Given the description of an element on the screen output the (x, y) to click on. 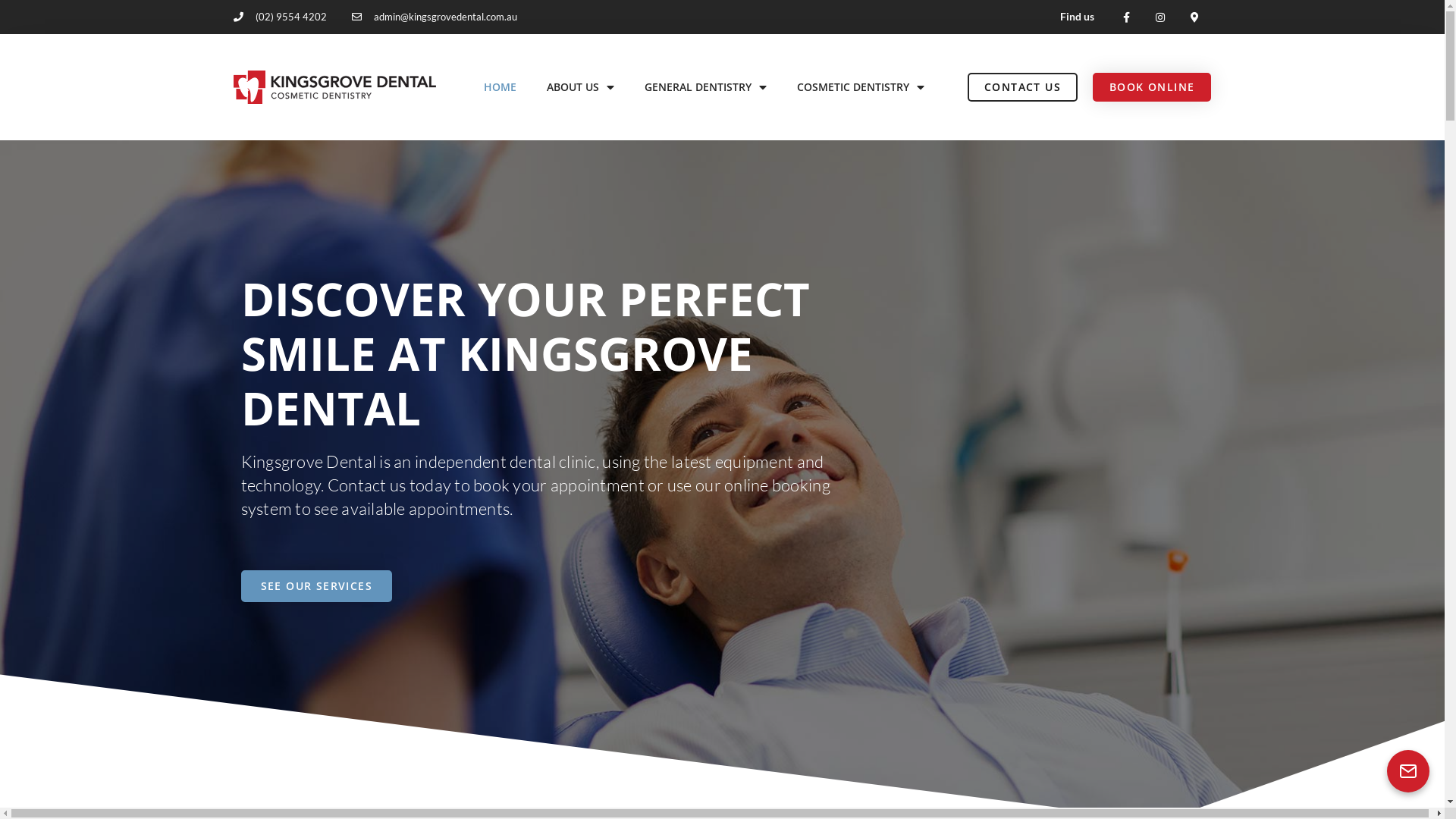
COSMETIC DENTISTRY Element type: text (860, 87)
(02) 9554 4202 Element type: text (279, 16)
ABOUT US Element type: text (580, 87)
HOME Element type: text (499, 87)
admin@kingsgrovedental.com.au Element type: text (434, 16)
SEE OUR SERVICES Element type: text (316, 586)
BOOK ONLINE Element type: text (1151, 86)
GENERAL DENTISTRY Element type: text (705, 87)
CONTACT US Element type: text (1022, 86)
